Given the description of an element on the screen output the (x, y) to click on. 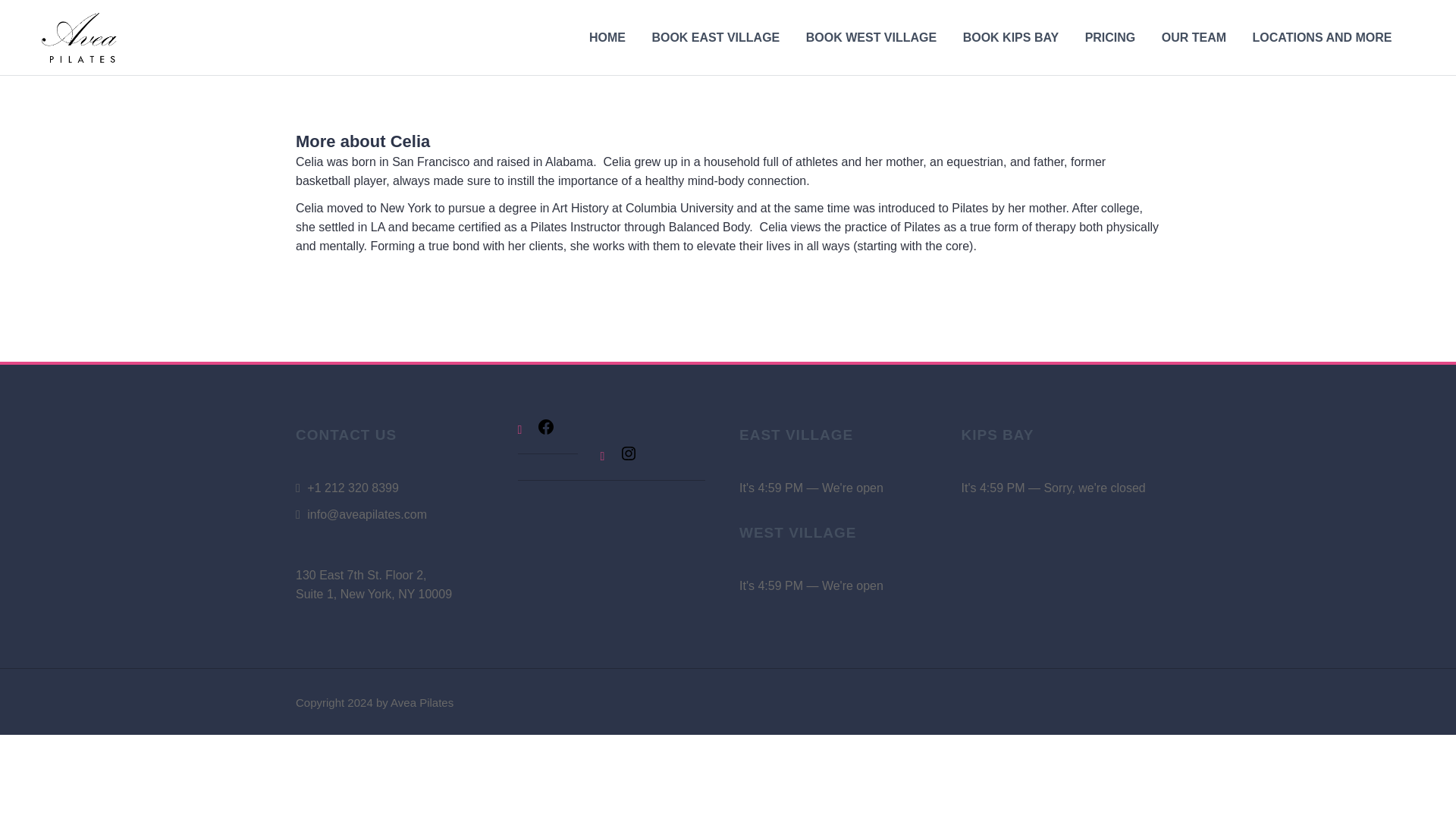
HOME (607, 37)
BOOK KIPS BAY (1010, 37)
OUR TEAM (1193, 37)
BOOK EAST VILLAGE (714, 37)
LOCATIONS AND MORE (1321, 37)
Avea Pilates. (81, 36)
BOOK WEST VILLAGE (871, 37)
PRICING (1109, 37)
